Given the description of an element on the screen output the (x, y) to click on. 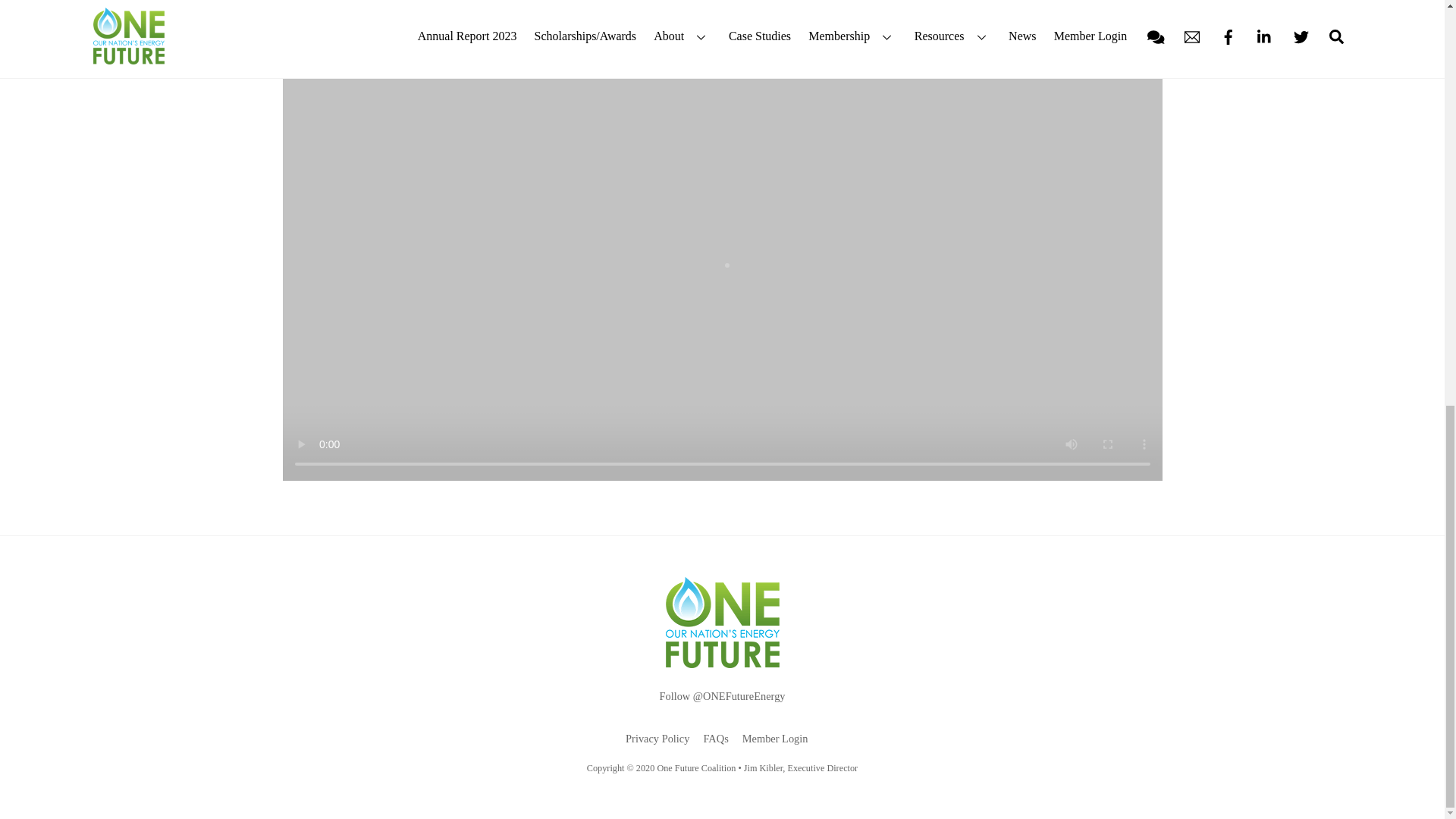
One Future (721, 662)
FAQs (715, 738)
Member Login (775, 738)
Privacy Policy (657, 738)
Jim Kibler, Executive Director (800, 767)
